Given the description of an element on the screen output the (x, y) to click on. 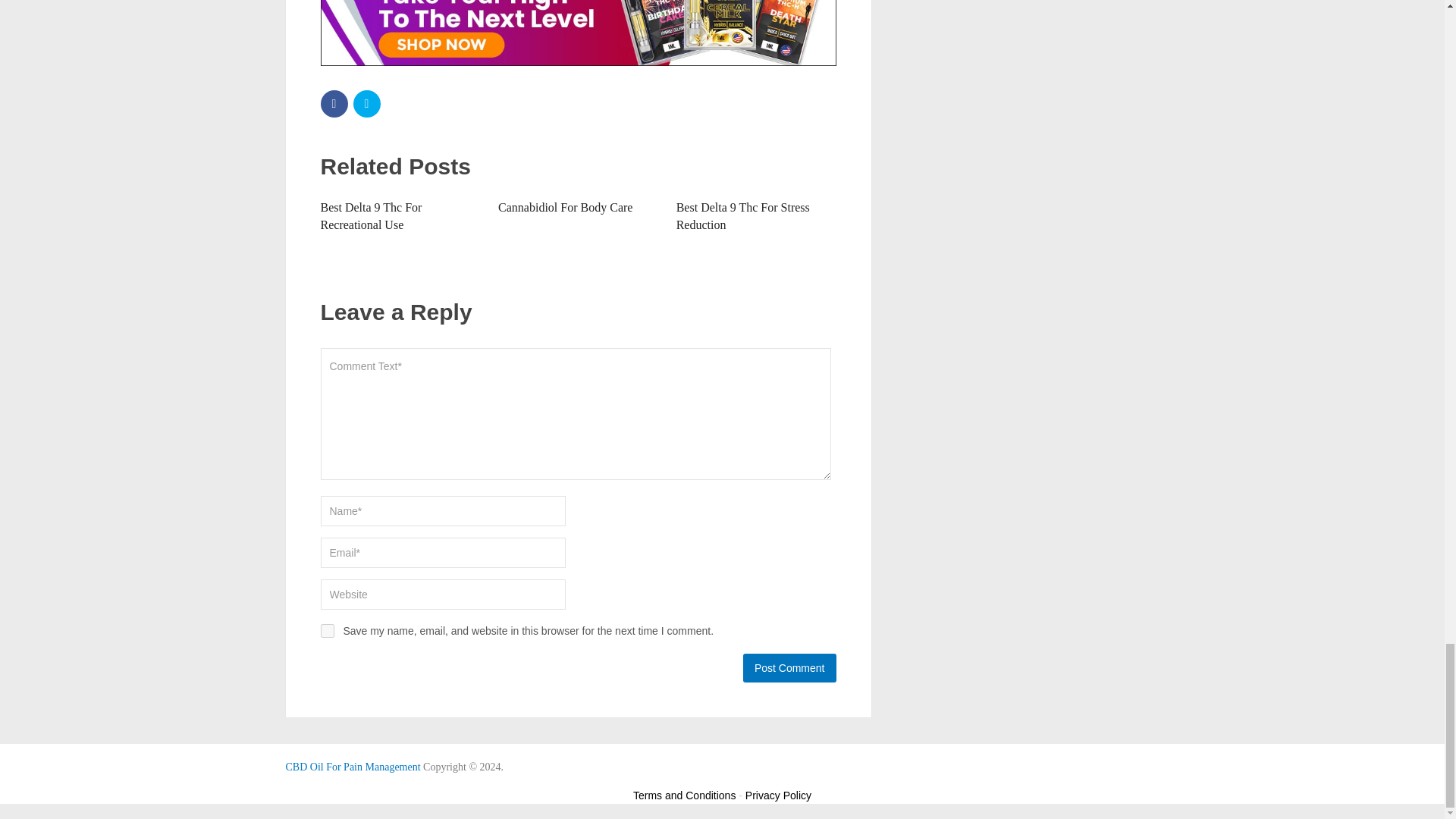
Best Delta 9 Thc For Stress Reduction (743, 215)
yes (326, 631)
Best Delta 9 Thc For Recreational Use (371, 215)
Cannabidiol For Body Care (564, 206)
Post Comment (788, 667)
